Given the description of an element on the screen output the (x, y) to click on. 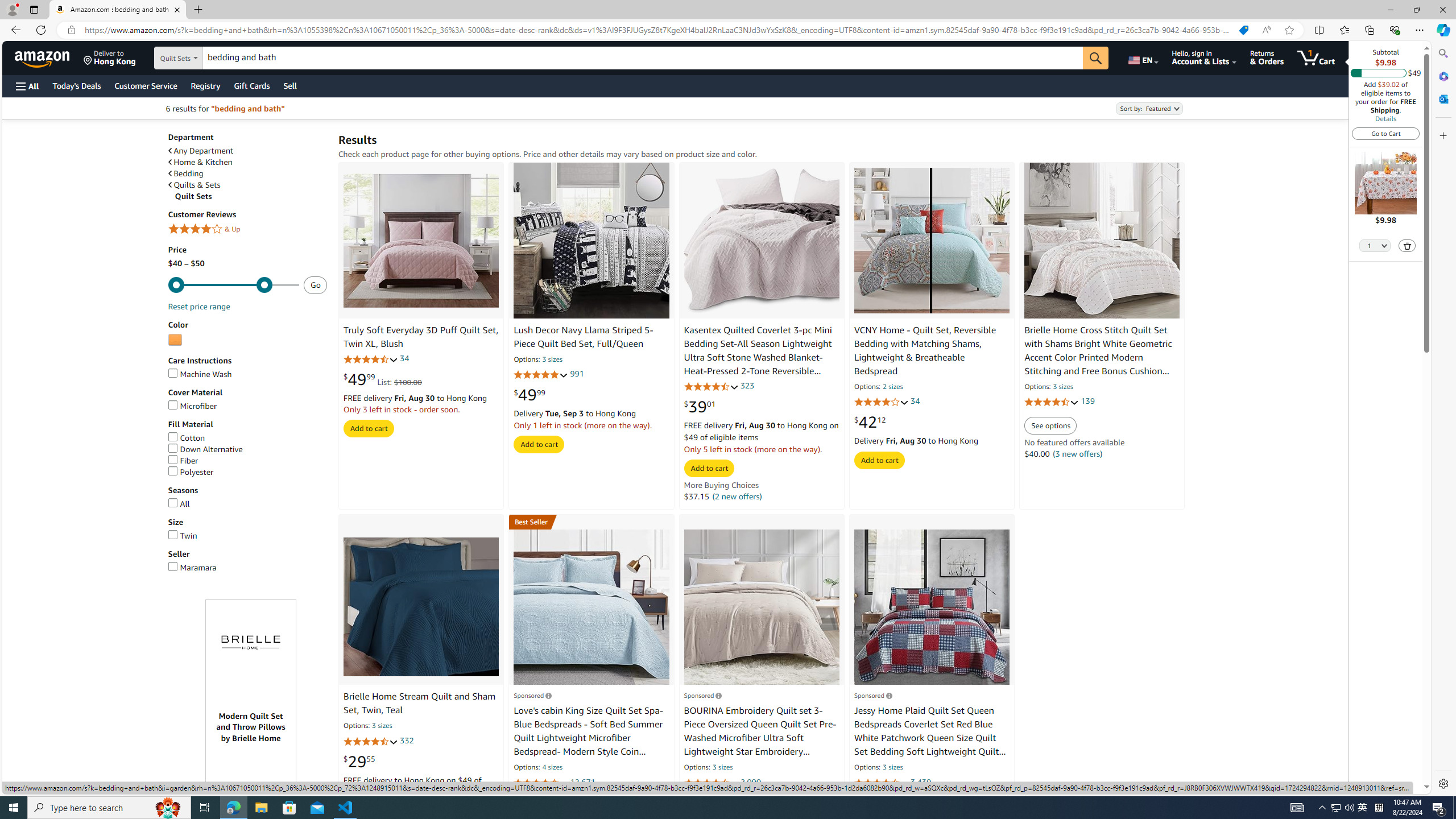
Address and search bar (658, 29)
991 (576, 373)
Search in (210, 58)
Delete (1407, 245)
Microfiber (191, 405)
